Given the description of an element on the screen output the (x, y) to click on. 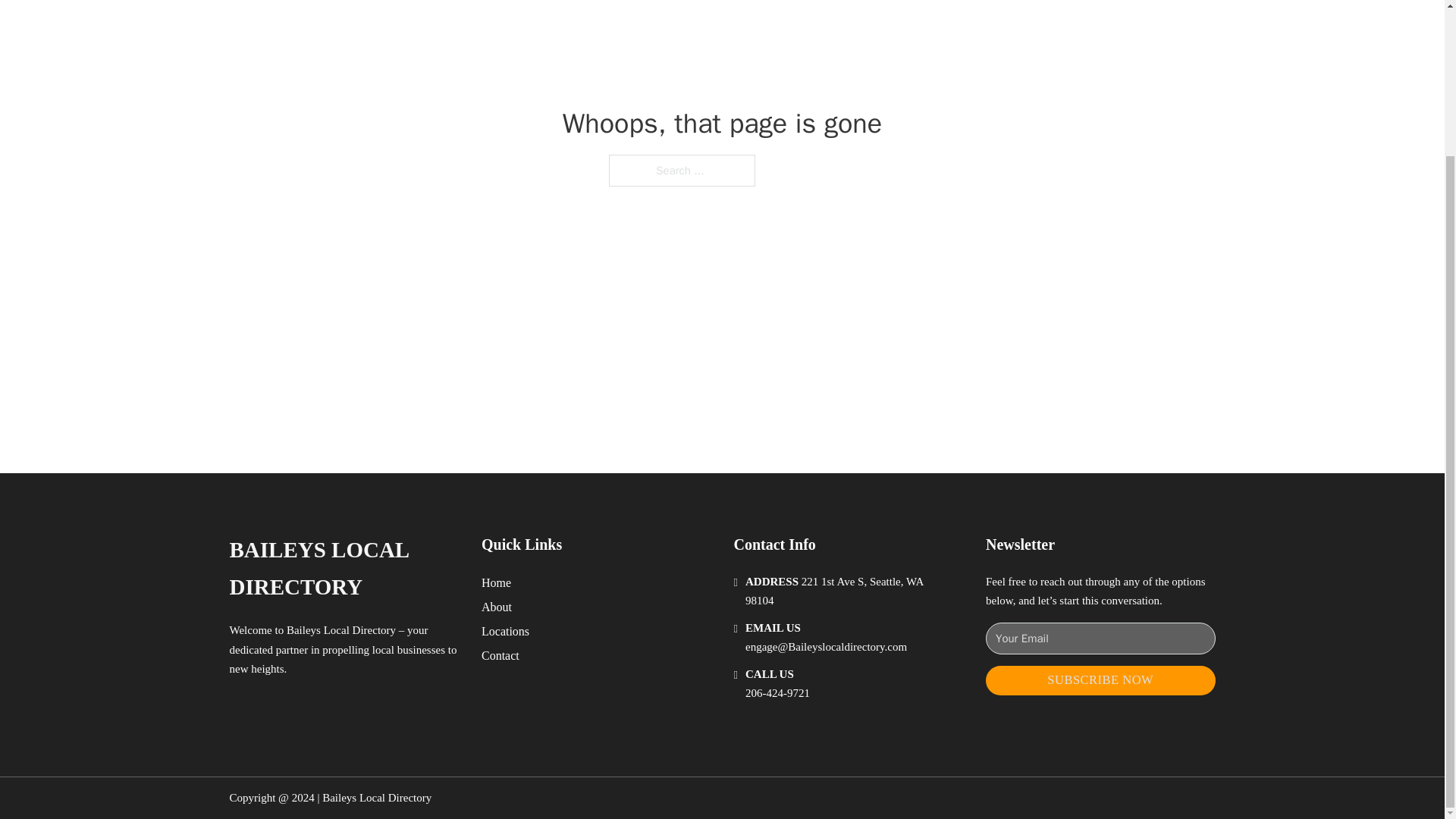
Home (496, 582)
206-424-9721 (777, 693)
Locations (505, 630)
BAILEYS LOCAL DIRECTORY (343, 568)
Contact (500, 655)
About (496, 607)
SUBSCRIBE NOW (1100, 680)
